Given the description of an element on the screen output the (x, y) to click on. 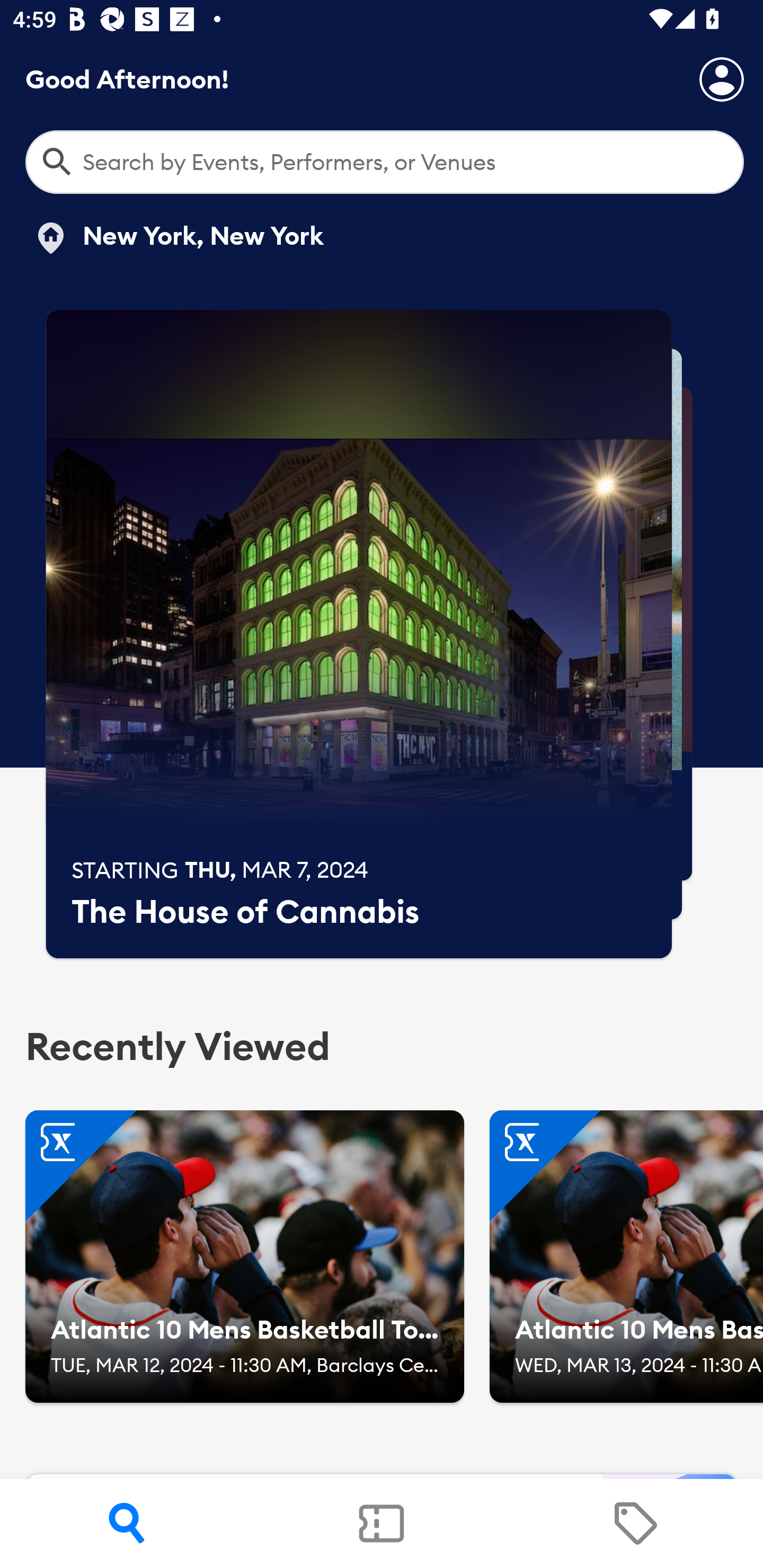
UserIcon (721, 78)
Search by Events, Performers, or Venues (384, 161)
New York, New York (177, 237)
STARTING THU, MAR 7, 2024 The House of Cannabis (358, 634)
Menu Item: Tickets (381, 1523)
Menu Item: Resale (635, 1523)
